Given the description of an element on the screen output the (x, y) to click on. 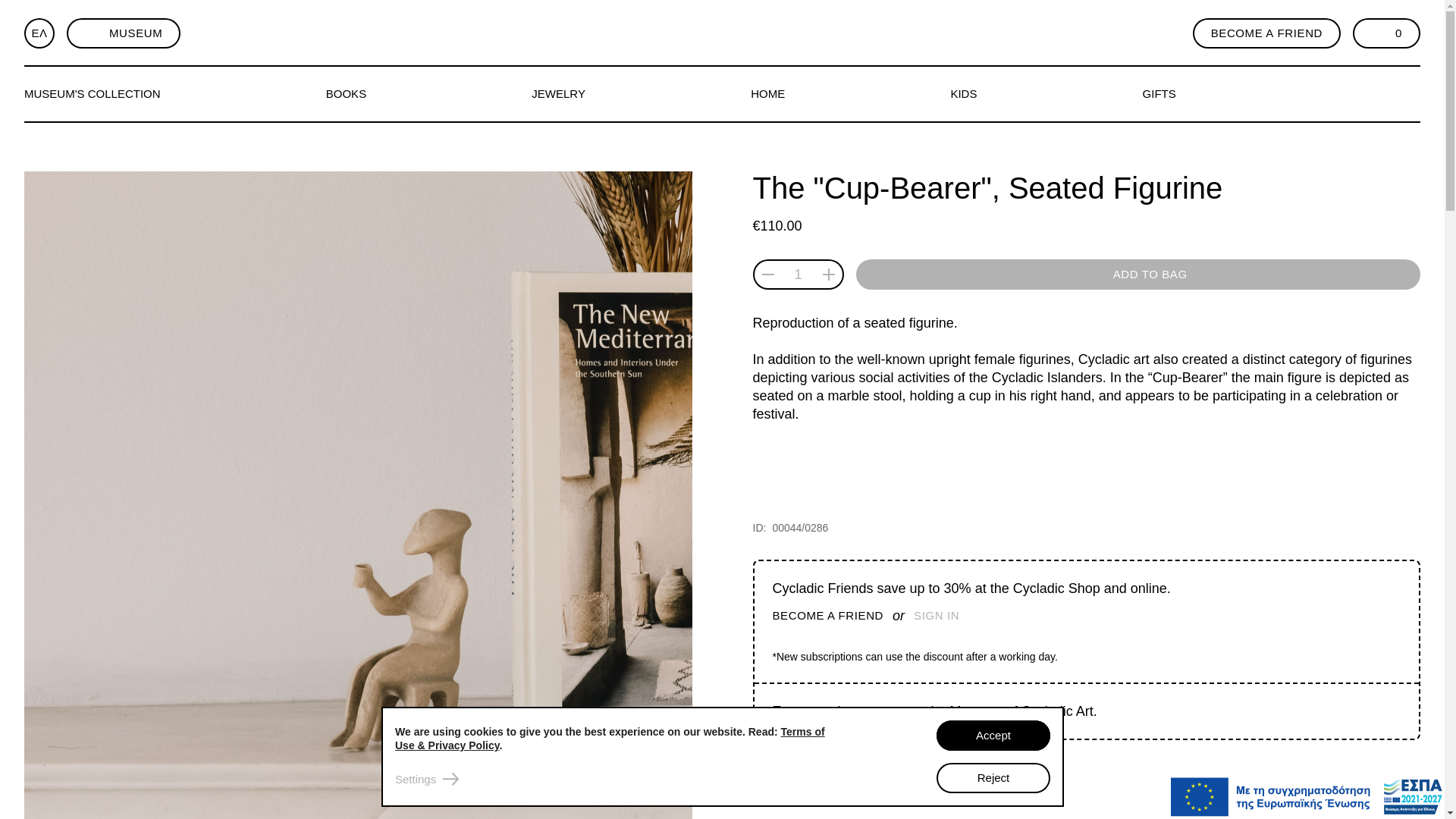
0 (1386, 33)
HOME (778, 94)
1 (797, 274)
SIGN IN (936, 615)
quantity (797, 274)
BOOKS (356, 94)
KIDS (973, 94)
View your shopping cart (1386, 33)
BECOME A FRIEND (827, 615)
